Given the description of an element on the screen output the (x, y) to click on. 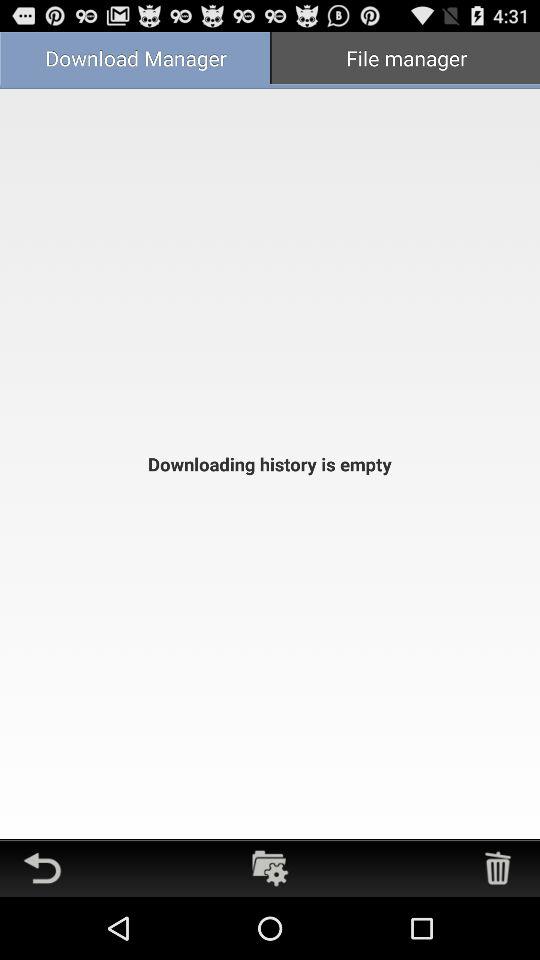
trash is empty (498, 868)
